Given the description of an element on the screen output the (x, y) to click on. 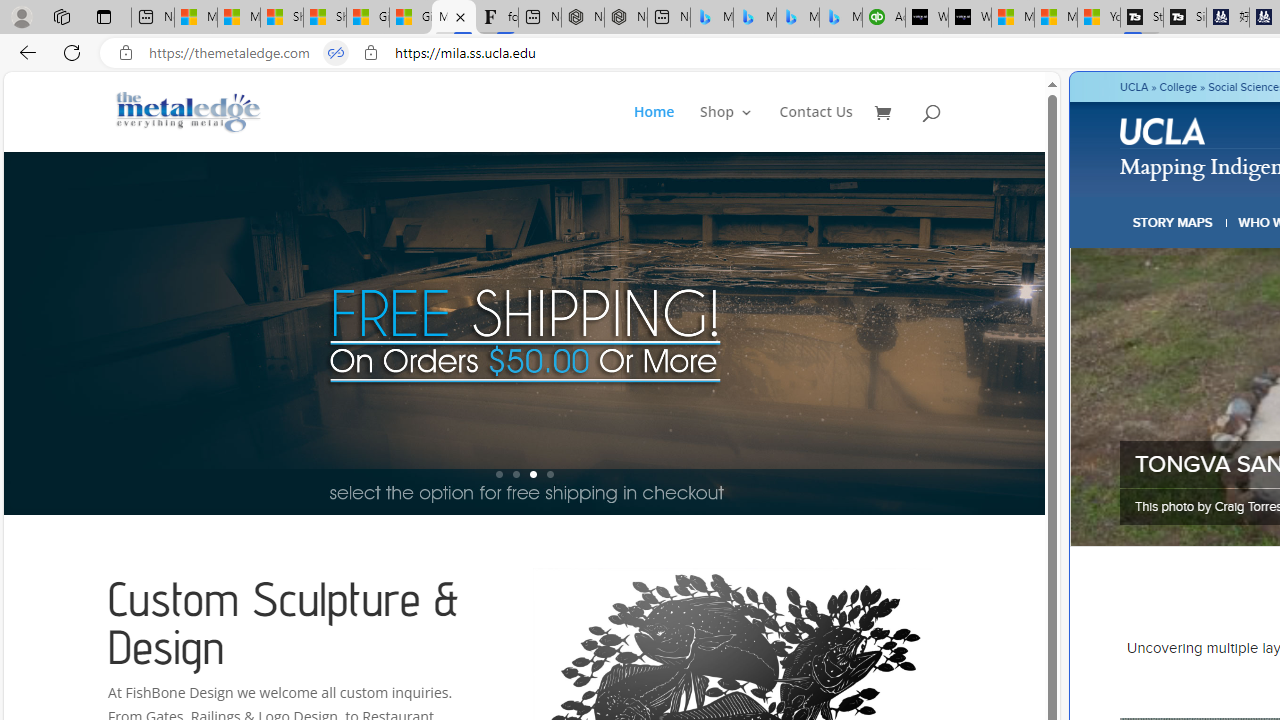
What's the best AI voice generator? - voice.ai (969, 17)
Metal Fish Sculptures & Metal Designs (189, 111)
Microsoft Start Sports (1013, 17)
2 (515, 474)
Home (653, 128)
Personal Profile (21, 16)
Streaming Coverage | T3 (1142, 17)
View site information (370, 53)
Tab actions menu (104, 16)
STORY MAPS (1173, 222)
Contact Us (815, 128)
Accounting Software for Accountants, CPAs and Bookkeepers (883, 17)
Microsoft Bing Travel - Stays in Bangkok, Bangkok, Thailand (754, 17)
4 (550, 474)
